Given the description of an element on the screen output the (x, y) to click on. 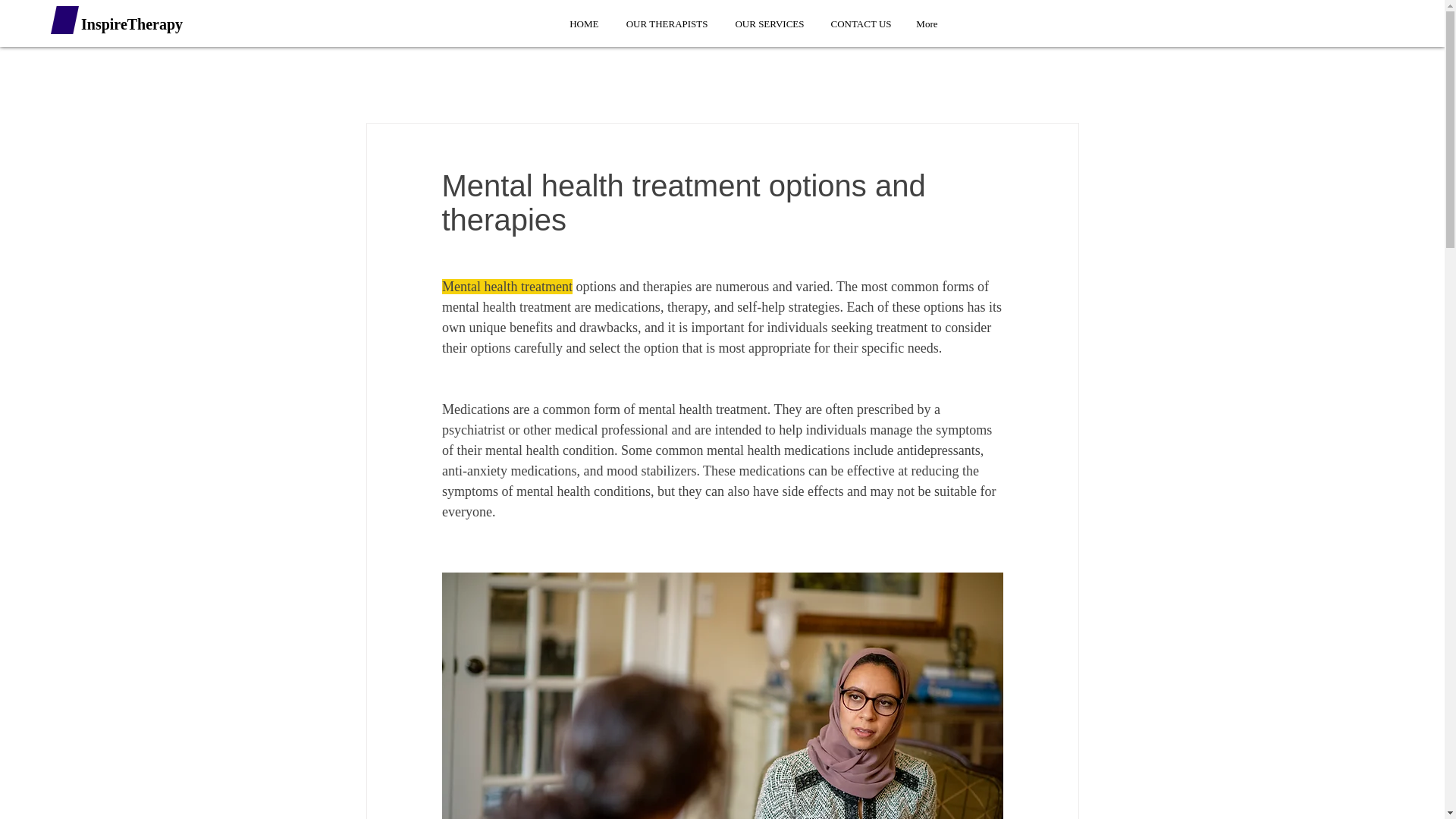
HOME (583, 23)
OUR SERVICES (767, 23)
InspireTherapy (132, 24)
OUR THERAPISTS (664, 23)
CONTACT US (858, 23)
